Given the description of an element on the screen output the (x, y) to click on. 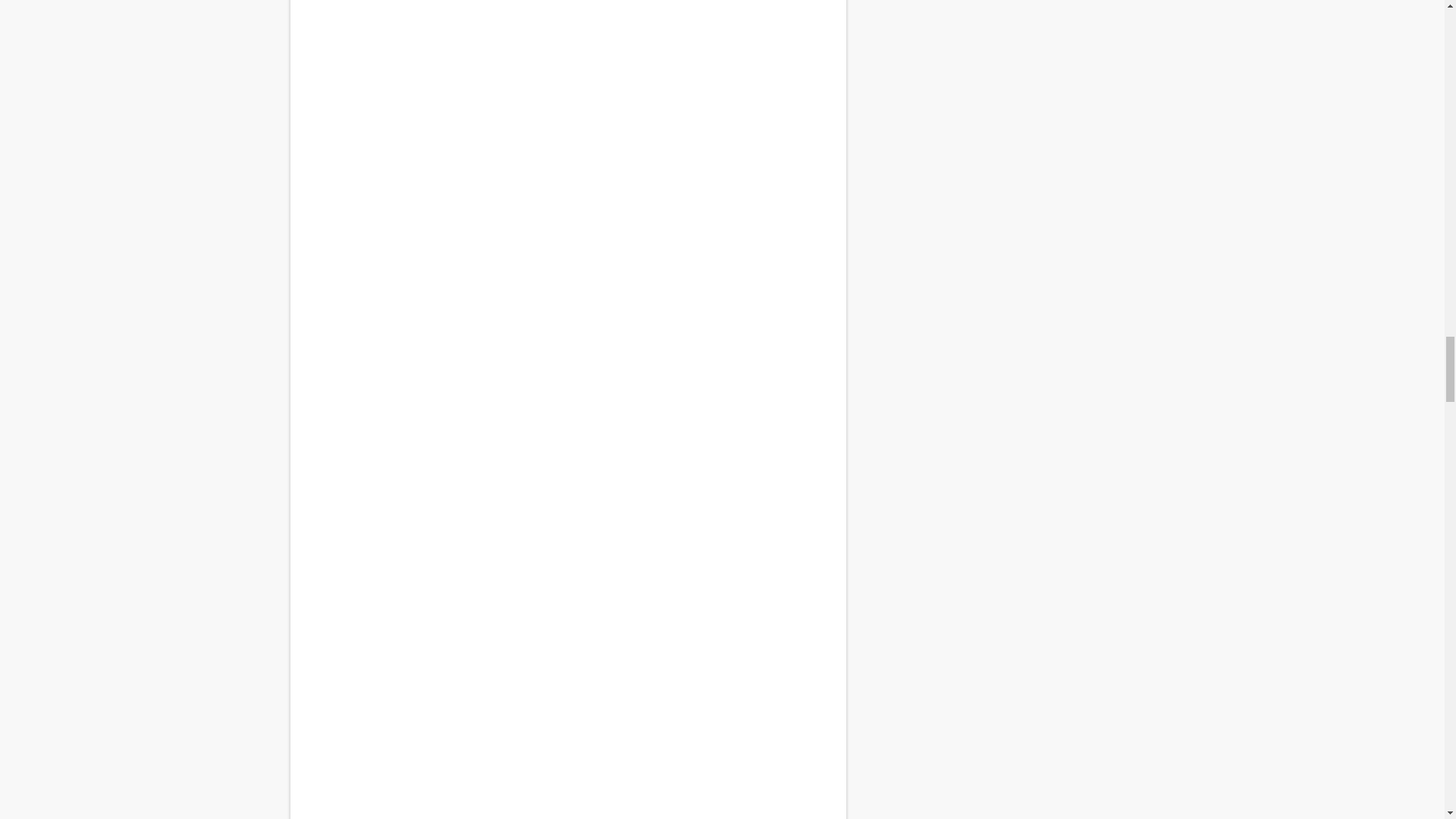
Topic Wise Words (567, 573)
Fill in the blanks (567, 14)
